Given the description of an element on the screen output the (x, y) to click on. 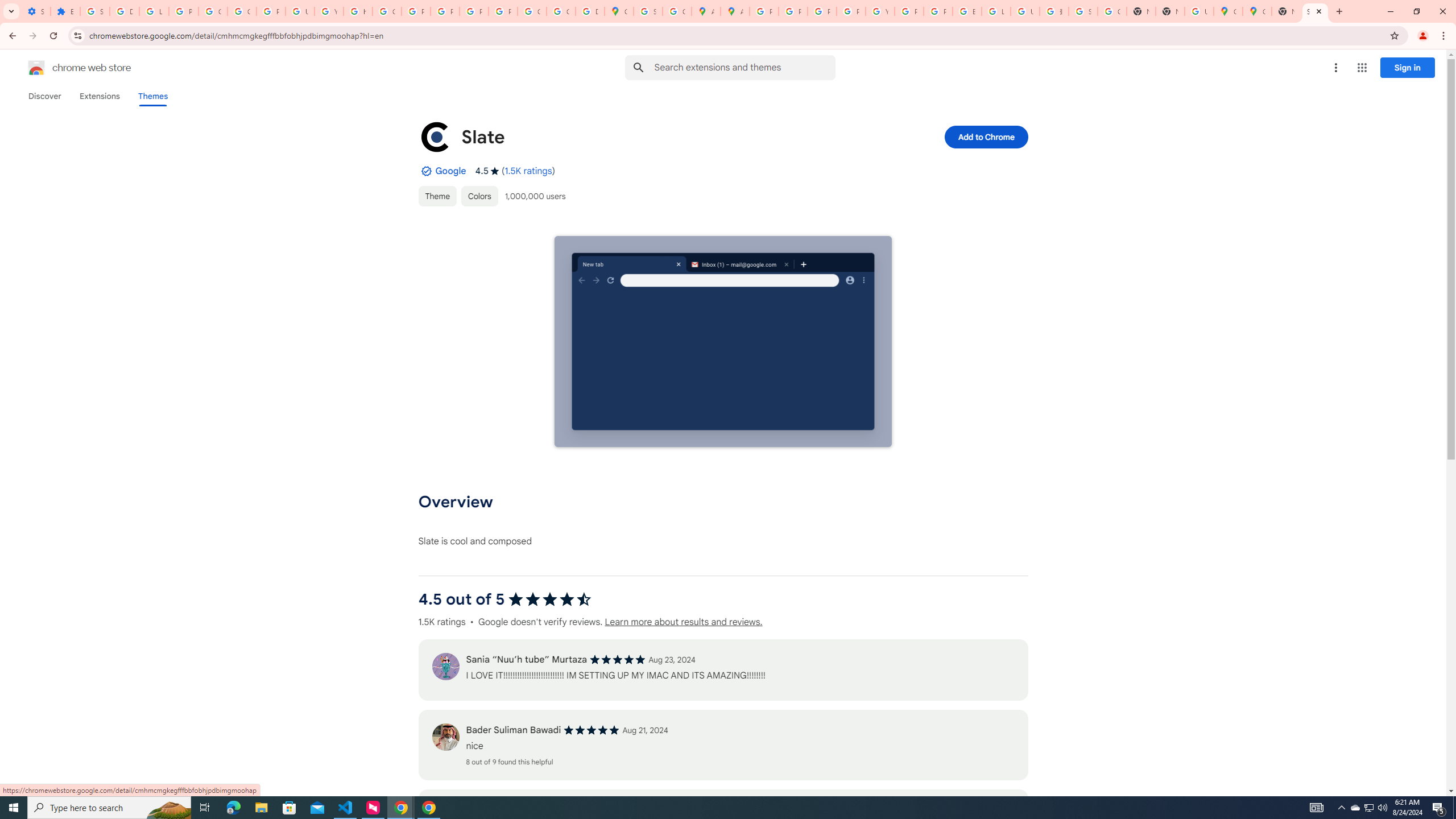
YouTube (327, 11)
Review's profile picture (445, 737)
5 out of 5 stars (591, 730)
Policy Accountability and Transparency - Transparency Center (763, 11)
Slate - Chrome Web Store (1315, 11)
Item logo image for Slate (434, 136)
Item logo image for Slate Slate (645, 136)
Google Maps (619, 11)
Google Maps (1227, 11)
Sign in - Google Accounts (1082, 11)
